Given the description of an element on the screen output the (x, y) to click on. 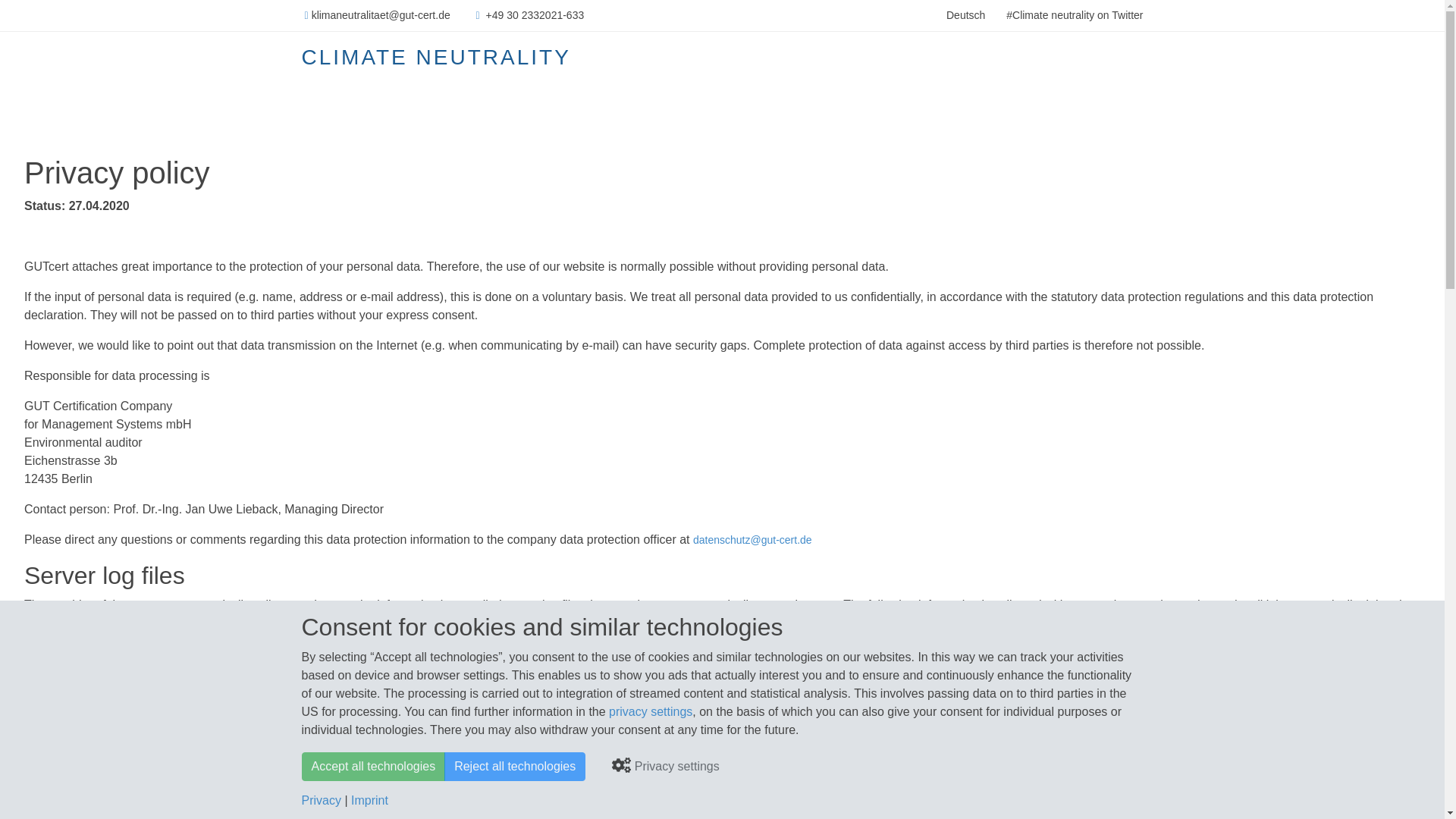
Accept all technologies (373, 766)
Climateneutrality (965, 15)
Privacy (320, 799)
CLIMATE NEUTRALITY (435, 56)
Privacy settings (665, 766)
privacy settings (650, 711)
Imprint (369, 799)
Open Privacy settings (650, 711)
Reject all technologies (514, 766)
Deutsch (965, 15)
